Given the description of an element on the screen output the (x, y) to click on. 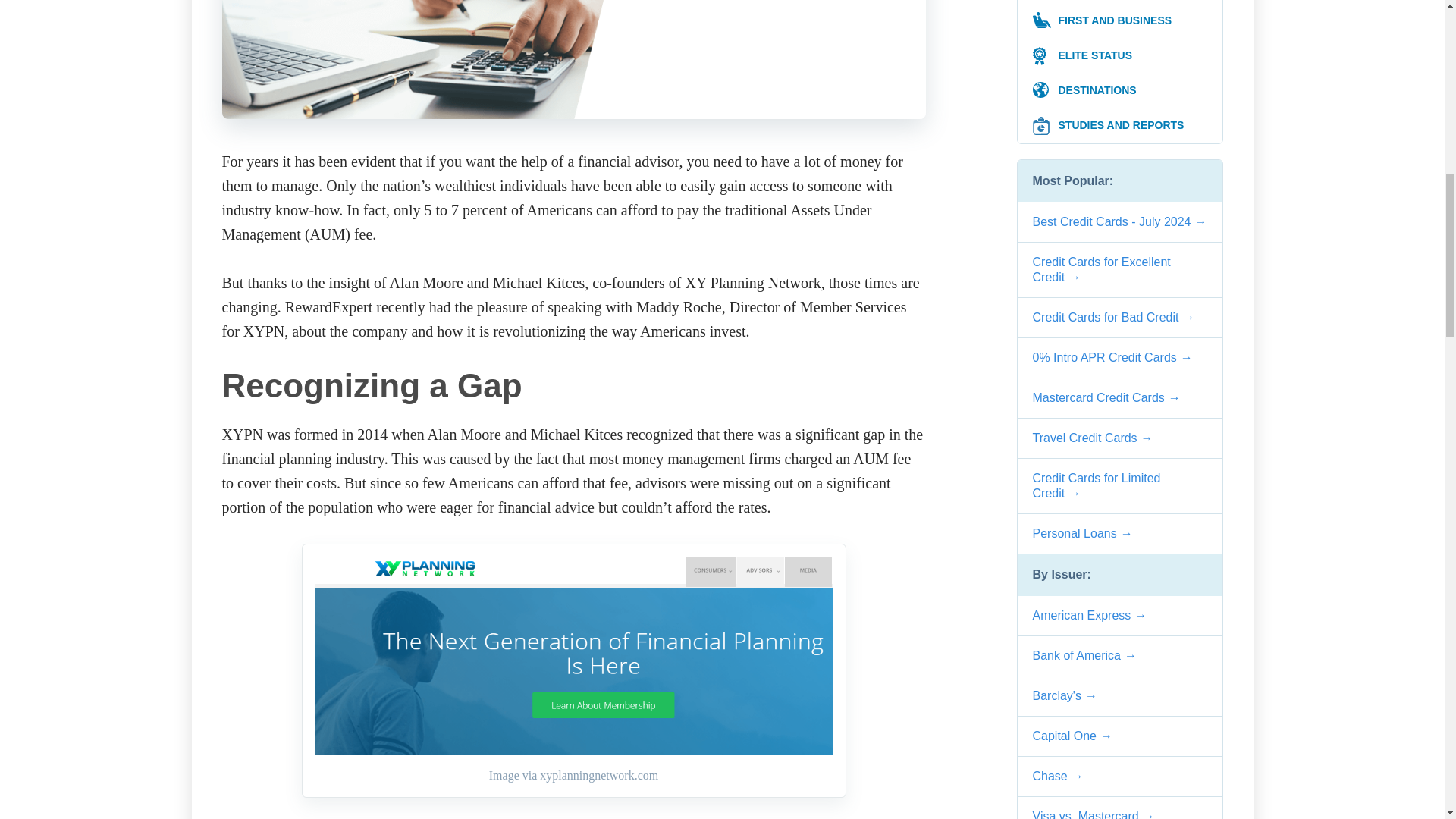
CREDIT CARDS (1120, 2)
